Given the description of an element on the screen output the (x, y) to click on. 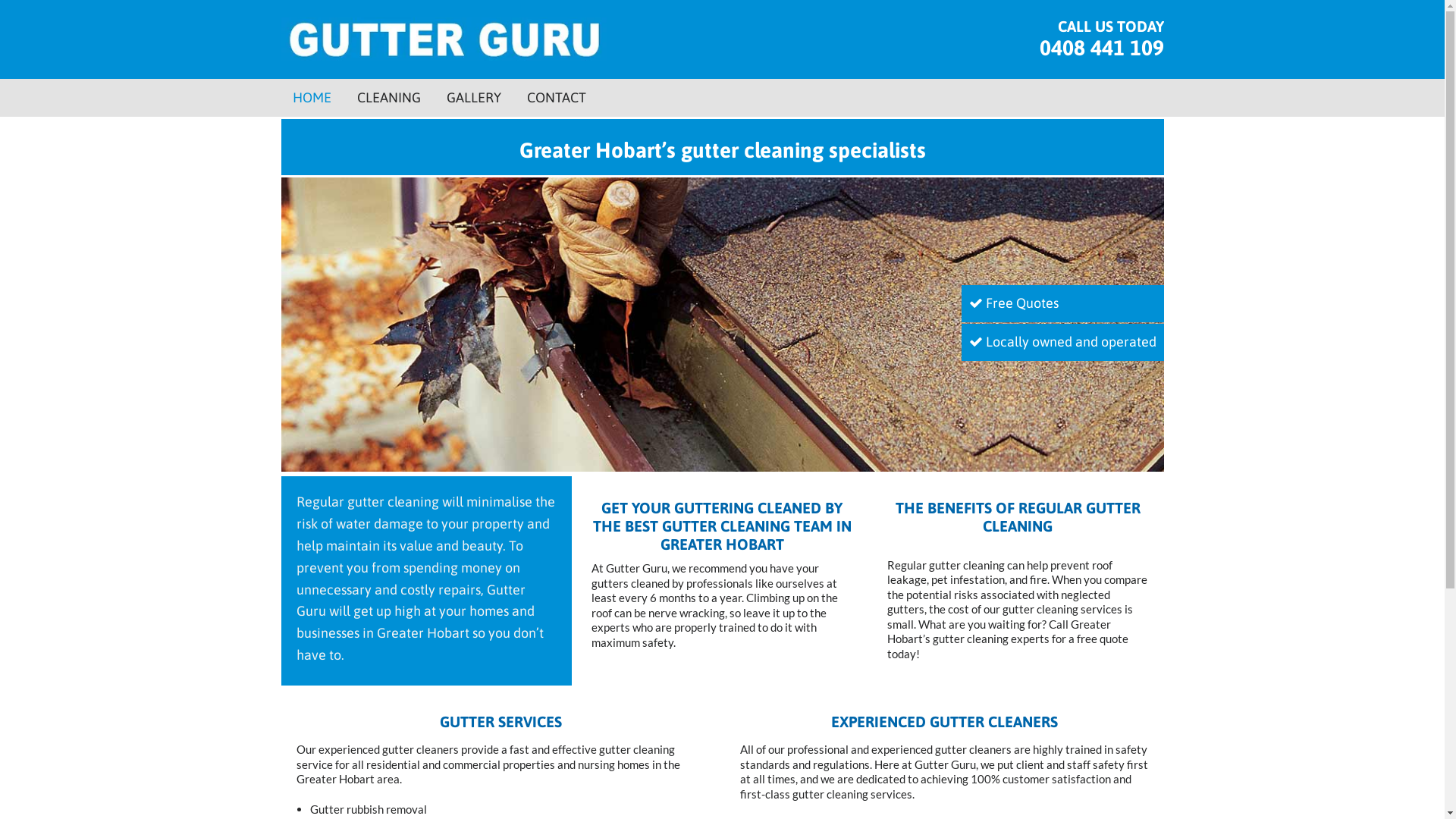
CONTACT Element type: text (555, 97)
HOME Element type: text (311, 97)
gutter guru logo Element type: hover (443, 38)
CLEANING Element type: text (388, 97)
GALLERY Element type: text (472, 97)
0408 441 109 Element type: text (1100, 47)
gutter guru cleaning gutter Element type: hover (721, 324)
